Given the description of an element on the screen output the (x, y) to click on. 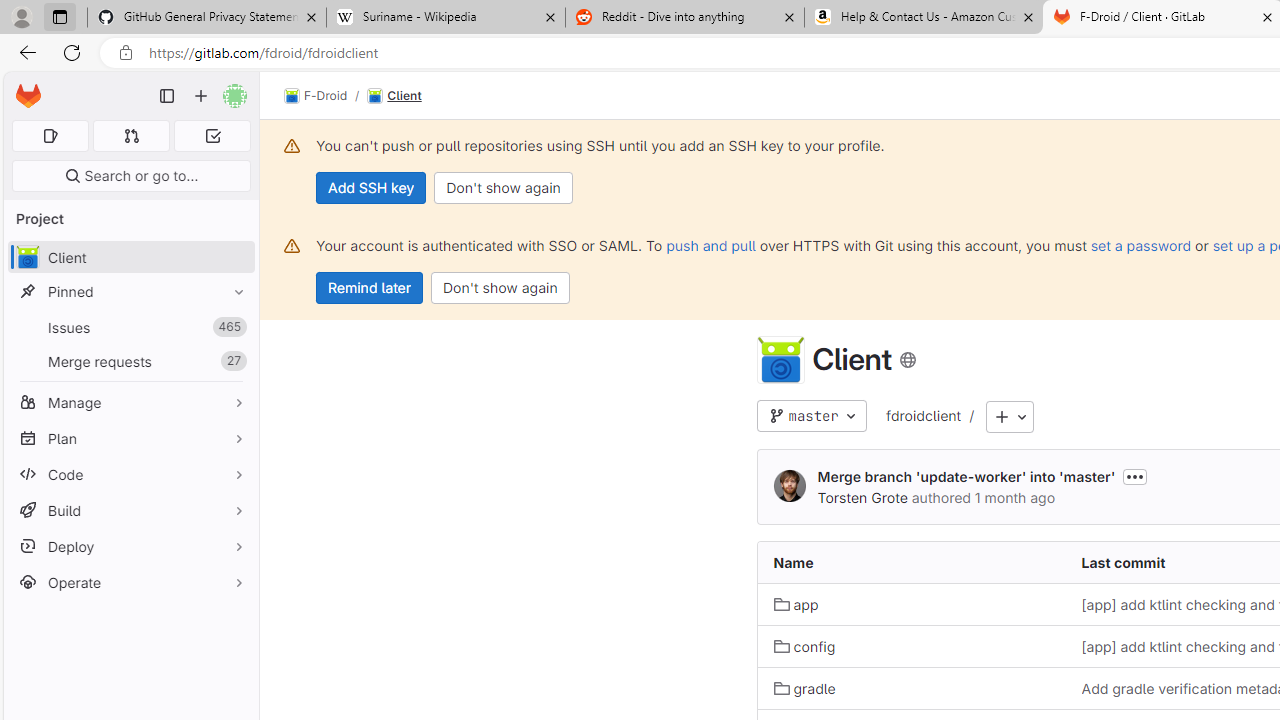
config (911, 646)
Torsten Grote's avatar (789, 486)
Client (394, 96)
app (911, 604)
config (804, 646)
avatar (27, 257)
Torsten Grote (861, 497)
Client (394, 96)
F-Droid/ (326, 96)
Merge requests 0 (131, 136)
Plan (130, 438)
Toggle commit description (1135, 476)
